Given the description of an element on the screen output the (x, y) to click on. 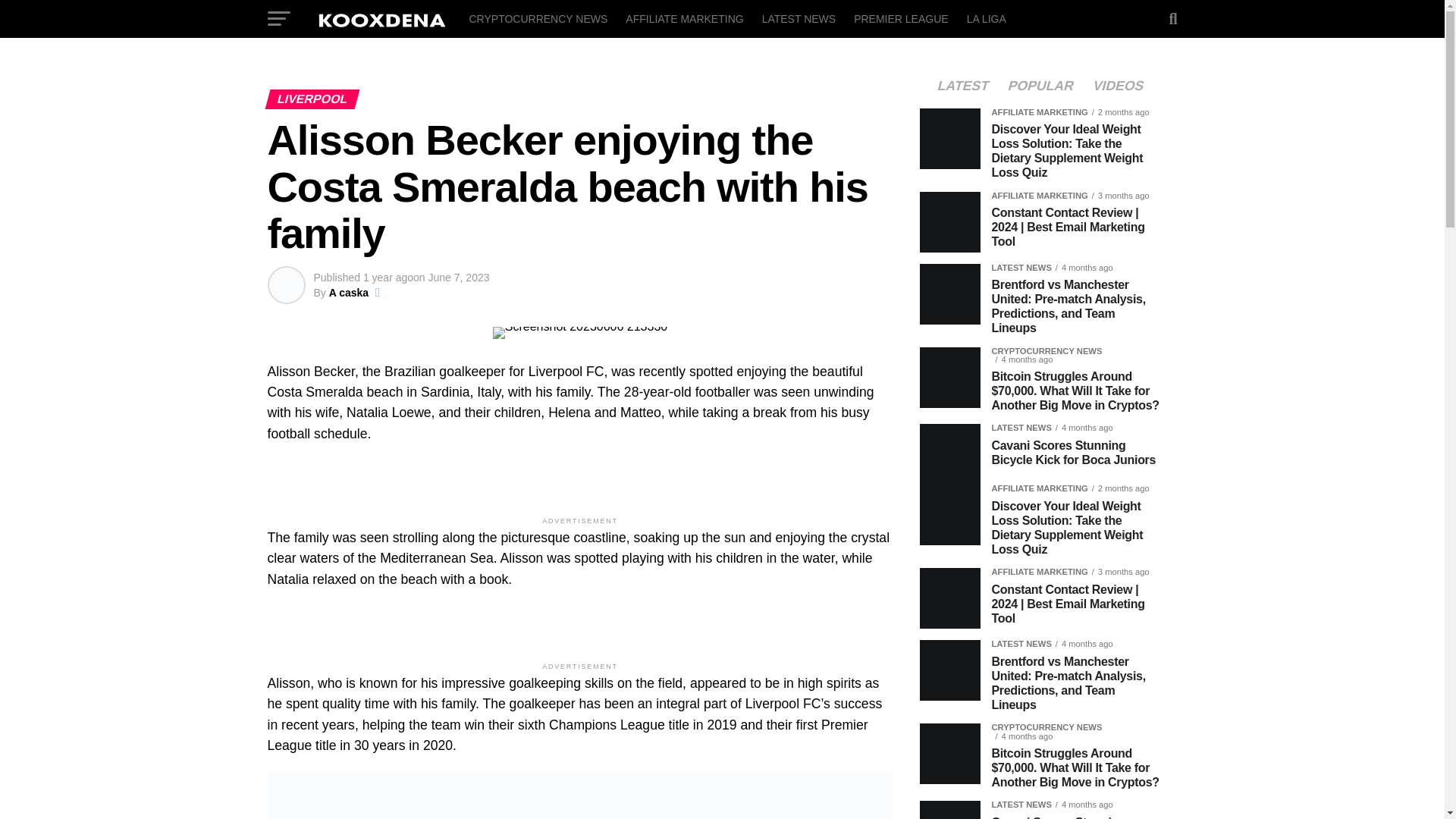
LATEST NEWS (798, 18)
AFFILIATE MARKETING (683, 18)
CRYPTOCURRENCY NEWS (537, 18)
Posts by A caska (348, 292)
